Given the description of an element on the screen output the (x, y) to click on. 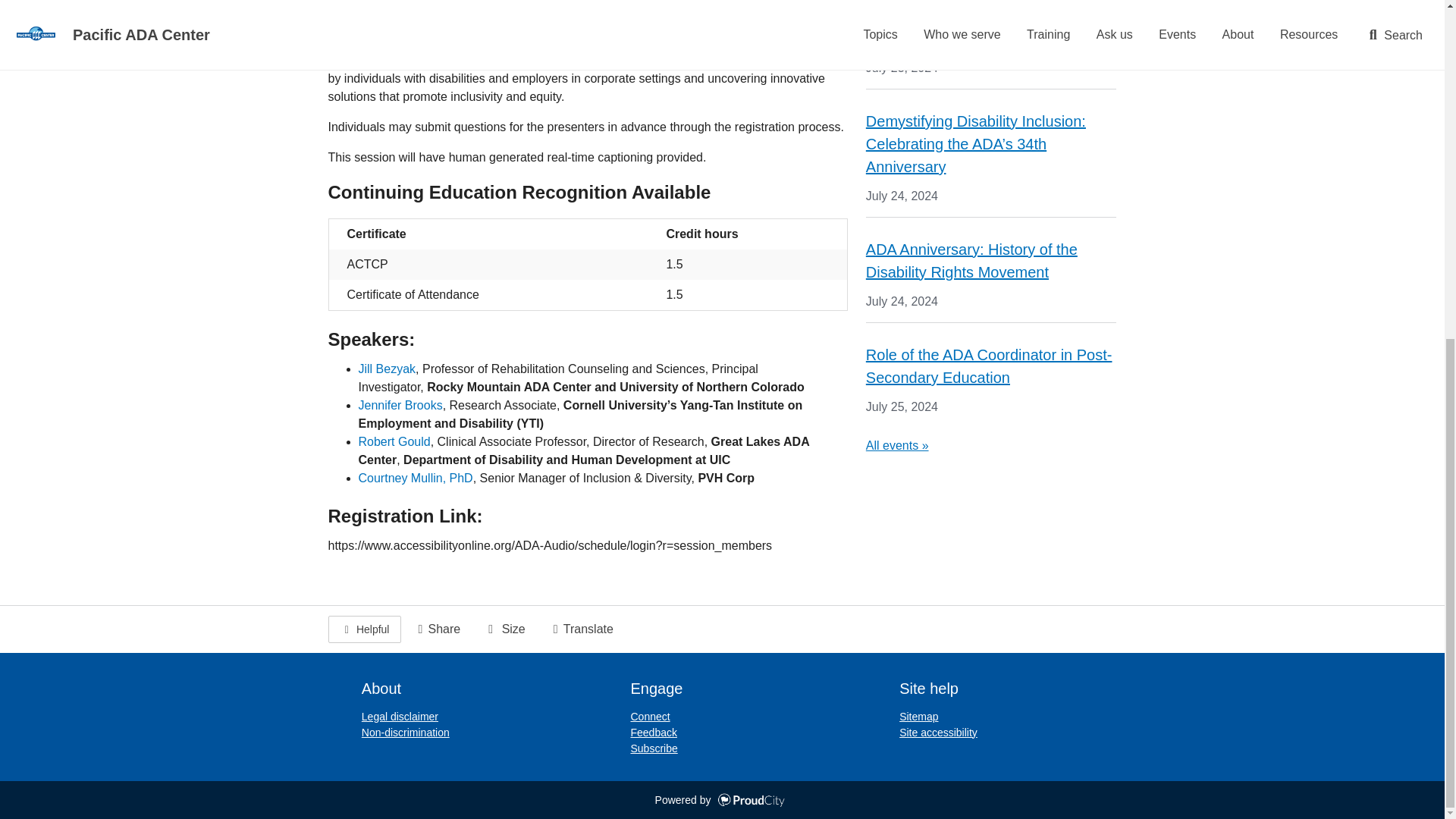
Translate (580, 629)
Share (436, 629)
Jennifer Brooks (400, 404)
This page makes me proud (364, 628)
Courtney Mullin, PhD (414, 477)
Role of the ADA Coordinator in Post-Secondary Education (989, 365)
Robert Gould (393, 440)
Size (504, 629)
ADA Anniversary: History of the Disability Rights Movement (971, 260)
Helpful (364, 628)
Jill Bezyak (386, 368)
